Given the description of an element on the screen output the (x, y) to click on. 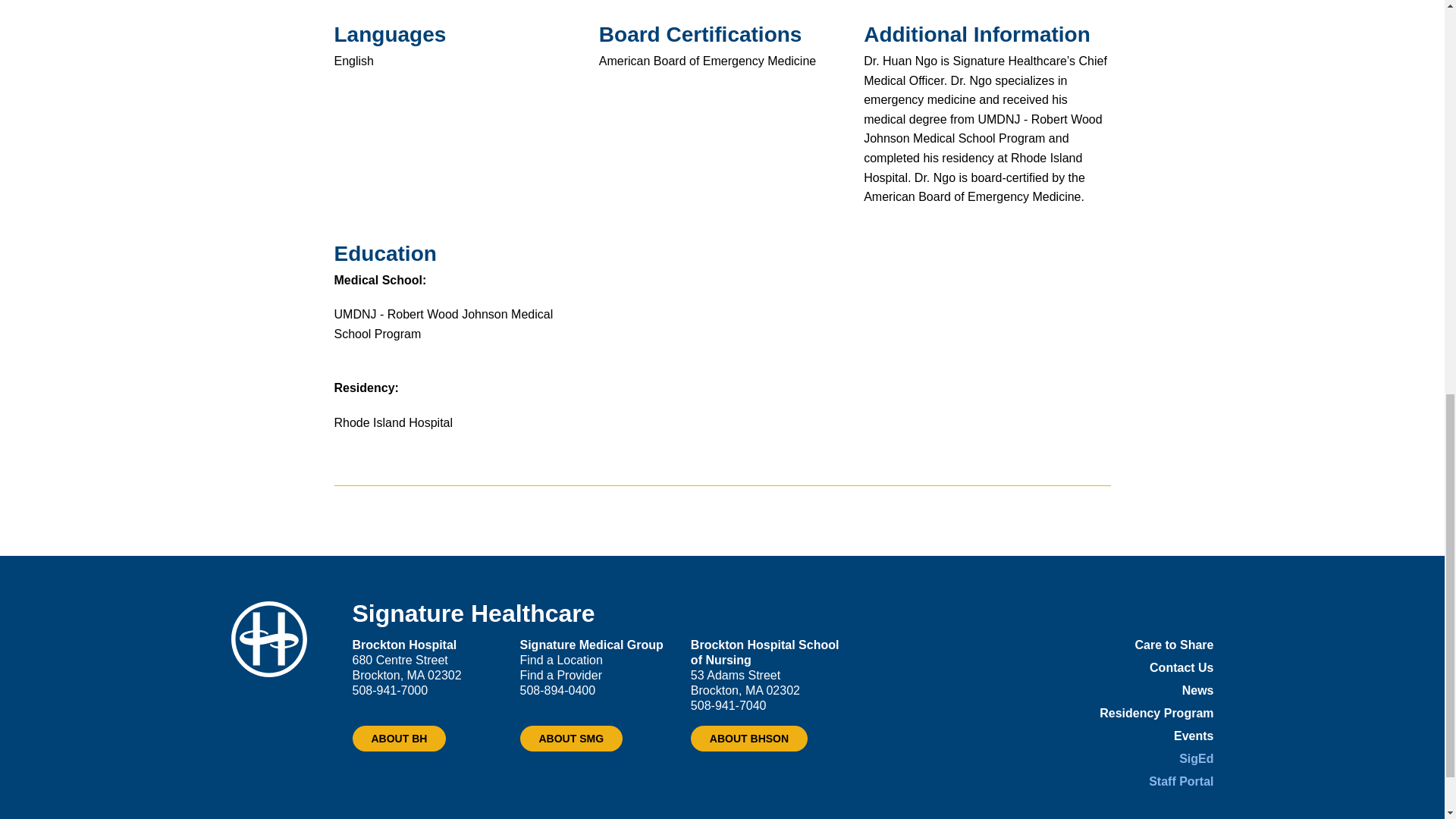
ABOUT BH (398, 738)
Contact Us (1181, 667)
Find a Location (560, 659)
Find a Provider (560, 675)
ABOUT SMG (571, 738)
Care to Share (1173, 644)
ABOUT BHSON (749, 738)
